Given the description of an element on the screen output the (x, y) to click on. 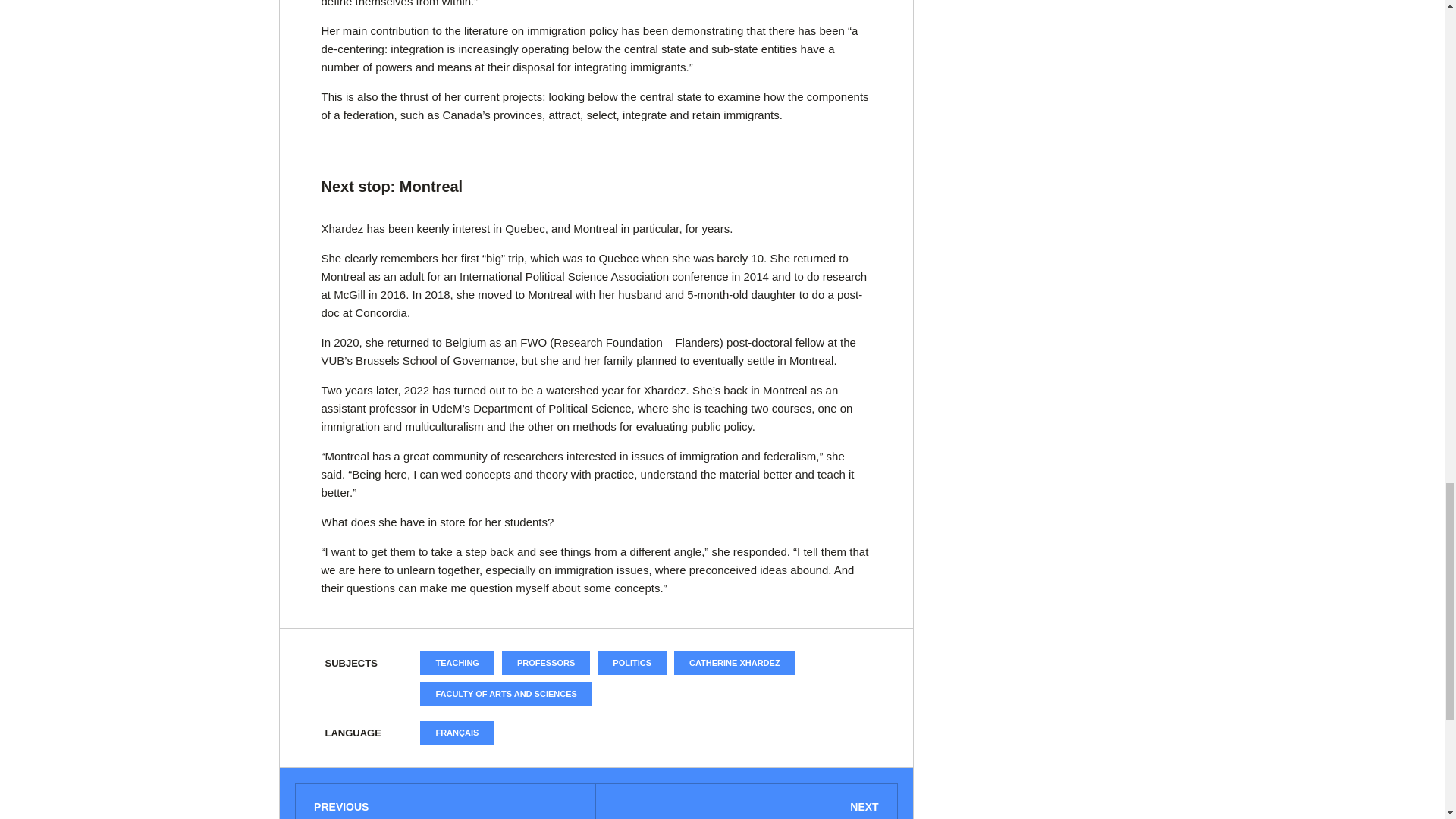
FACULTY OF ARTS AND SCIENCES (505, 693)
PROFESSORS (545, 662)
CATHERINE XHARDEZ (734, 662)
TEACHING (456, 662)
POLITICS (631, 662)
